Given the description of an element on the screen output the (x, y) to click on. 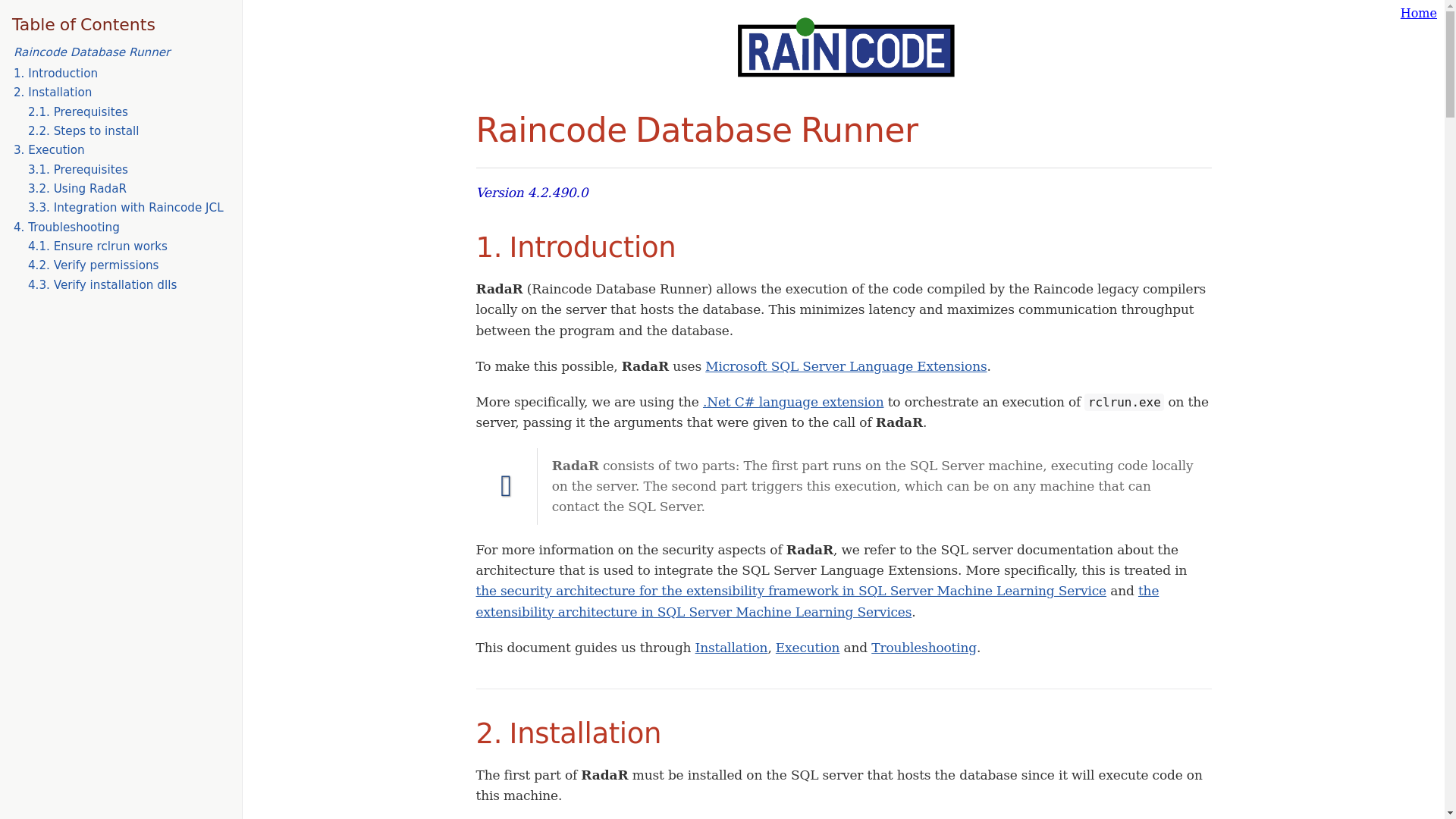
Home (1418, 12)
2. Installation (52, 92)
4.1. Ensure rclrun works (97, 246)
3.2. Using RadaR (76, 188)
Raincode Database Runner (91, 51)
4. Troubleshooting (66, 227)
1. Introduction (55, 73)
4.2. Verify permissions (92, 264)
Troubleshooting (923, 647)
3.3. Integration with Raincode JCL (125, 207)
2.1. Prerequisites (77, 111)
Execution (808, 647)
3. Execution (48, 150)
